Given the description of an element on the screen output the (x, y) to click on. 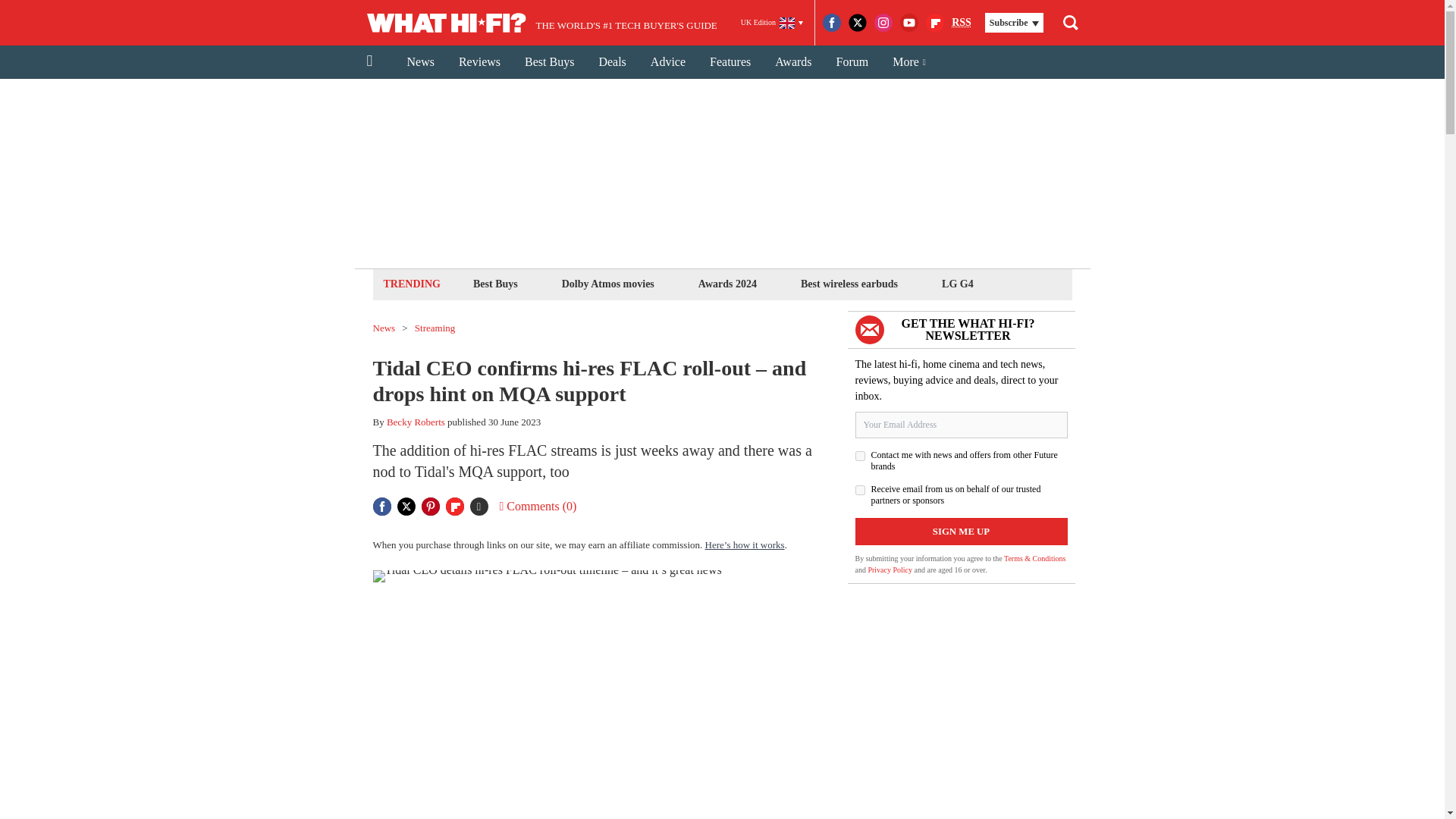
Best Buys (549, 61)
on (860, 456)
Really Simple Syndication (961, 21)
Best Buys (494, 283)
Sign me up (961, 531)
Advice (668, 61)
Forum (852, 61)
Deals (611, 61)
LG G4 (957, 283)
UK Edition (771, 22)
Features (729, 61)
RSS (961, 22)
Reviews (479, 61)
Becky Roberts (416, 421)
News (419, 61)
